Given the description of an element on the screen output the (x, y) to click on. 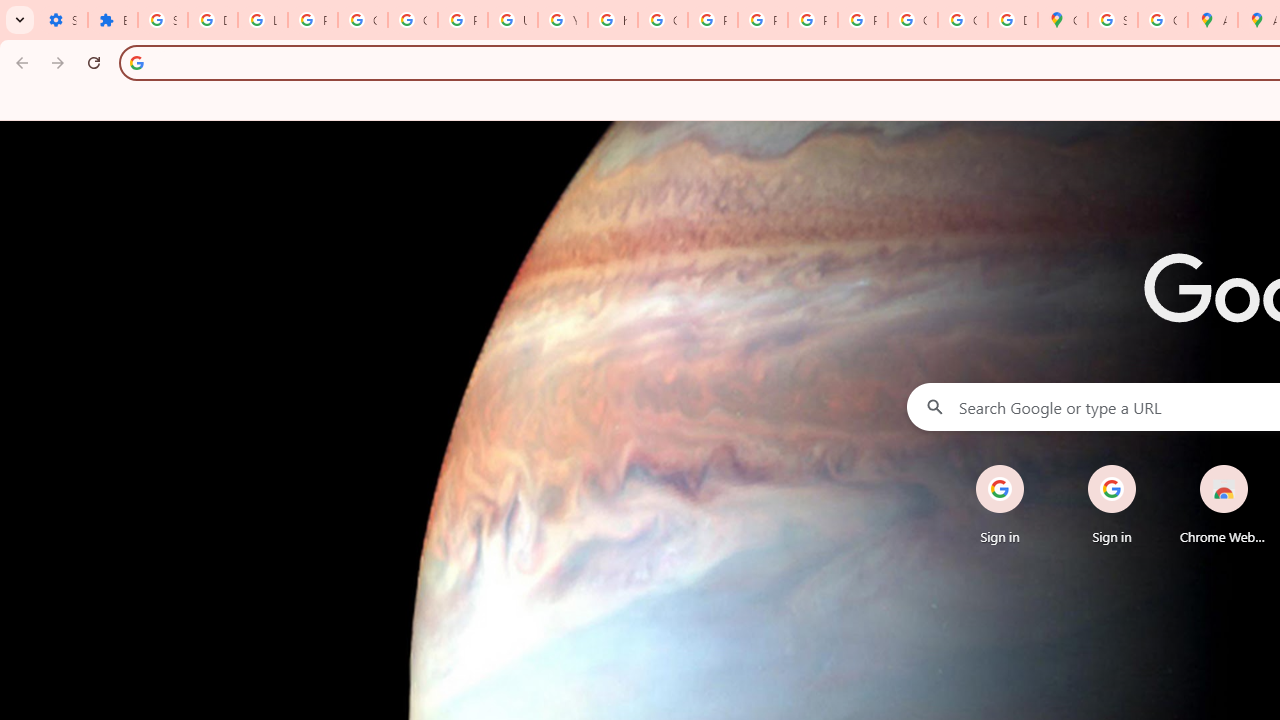
Sign in (1111, 504)
Extensions (113, 20)
Chrome Web Store (1223, 504)
Search icon (136, 62)
Search tabs (20, 20)
Privacy Help Center - Policies Help (712, 20)
Google Account Help (362, 20)
Back (19, 62)
Forward (57, 62)
https://scholar.google.com/ (612, 20)
Google Account Help (412, 20)
